Given the description of an element on the screen output the (x, y) to click on. 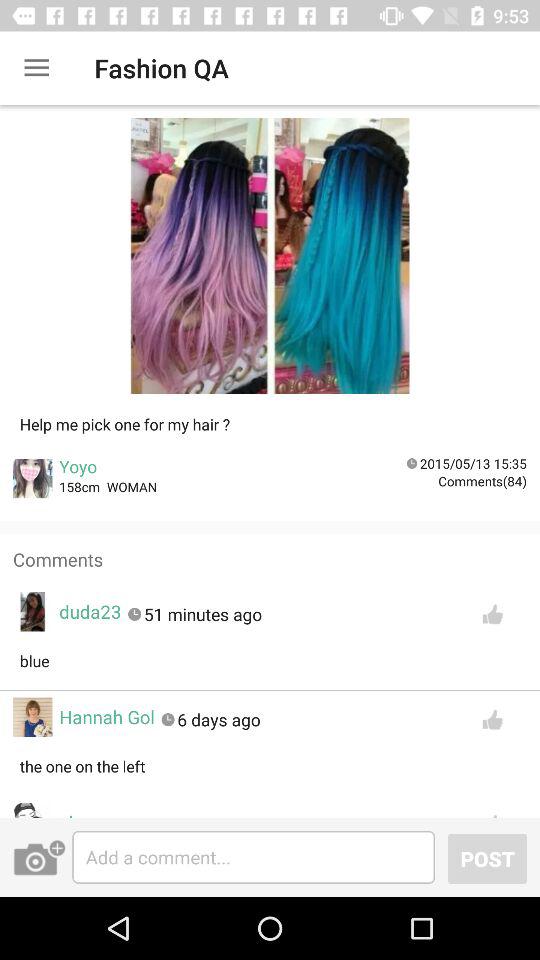
like comment (492, 719)
